Given the description of an element on the screen output the (x, y) to click on. 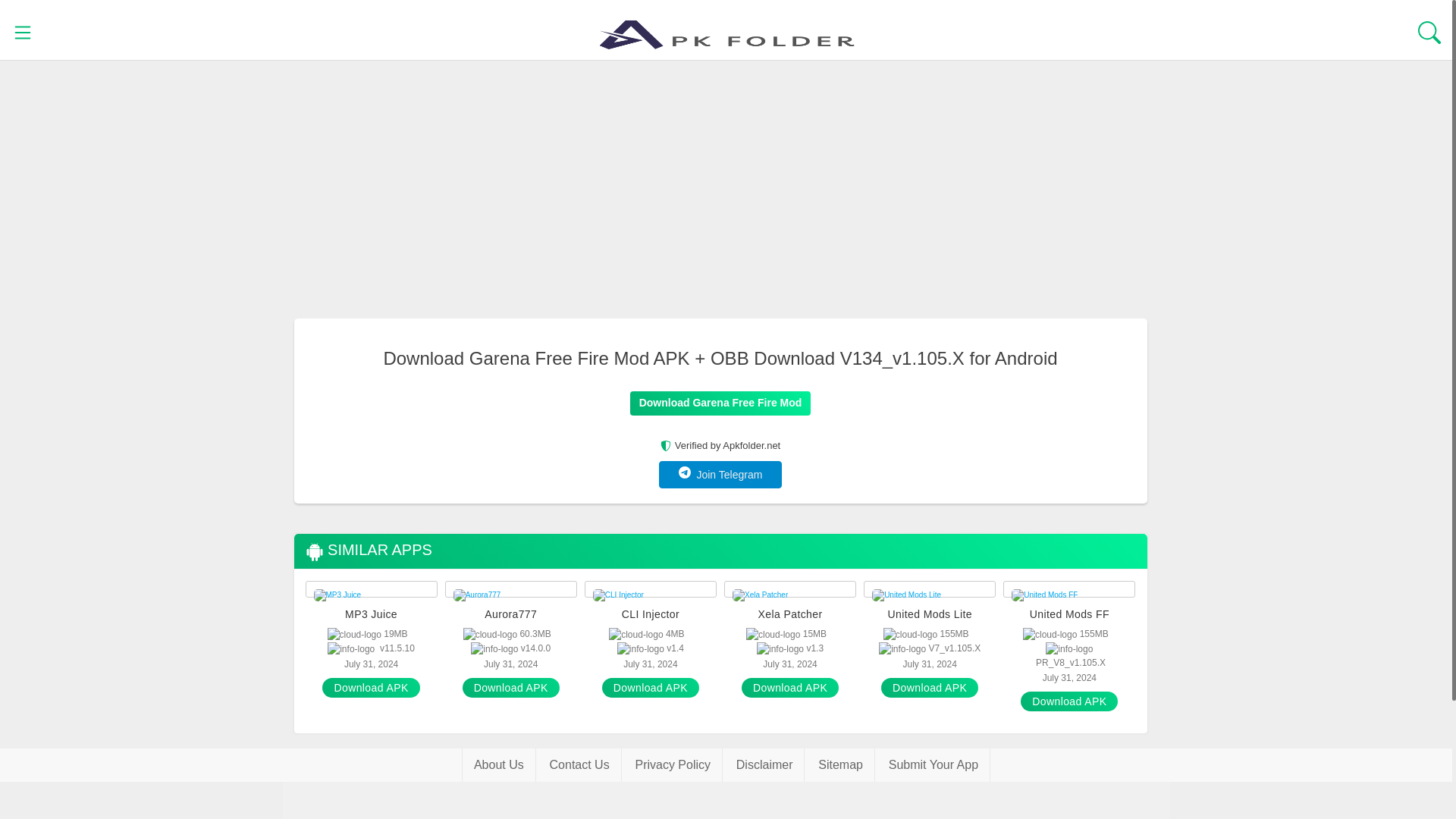
Download APK (1069, 701)
Contact Us (579, 765)
 SIMILAR APPS (367, 551)
MP3 Juice (371, 614)
Download APK (789, 687)
 Join Telegram (721, 474)
Disclaimer (765, 765)
United Mods Lite (929, 614)
Submit Your App (933, 765)
Privacy Policy (672, 765)
Download APK (650, 687)
CLI Injector (649, 614)
Sitemap (840, 765)
Xela Patcher (789, 614)
About Us (498, 765)
